Given the description of an element on the screen output the (x, y) to click on. 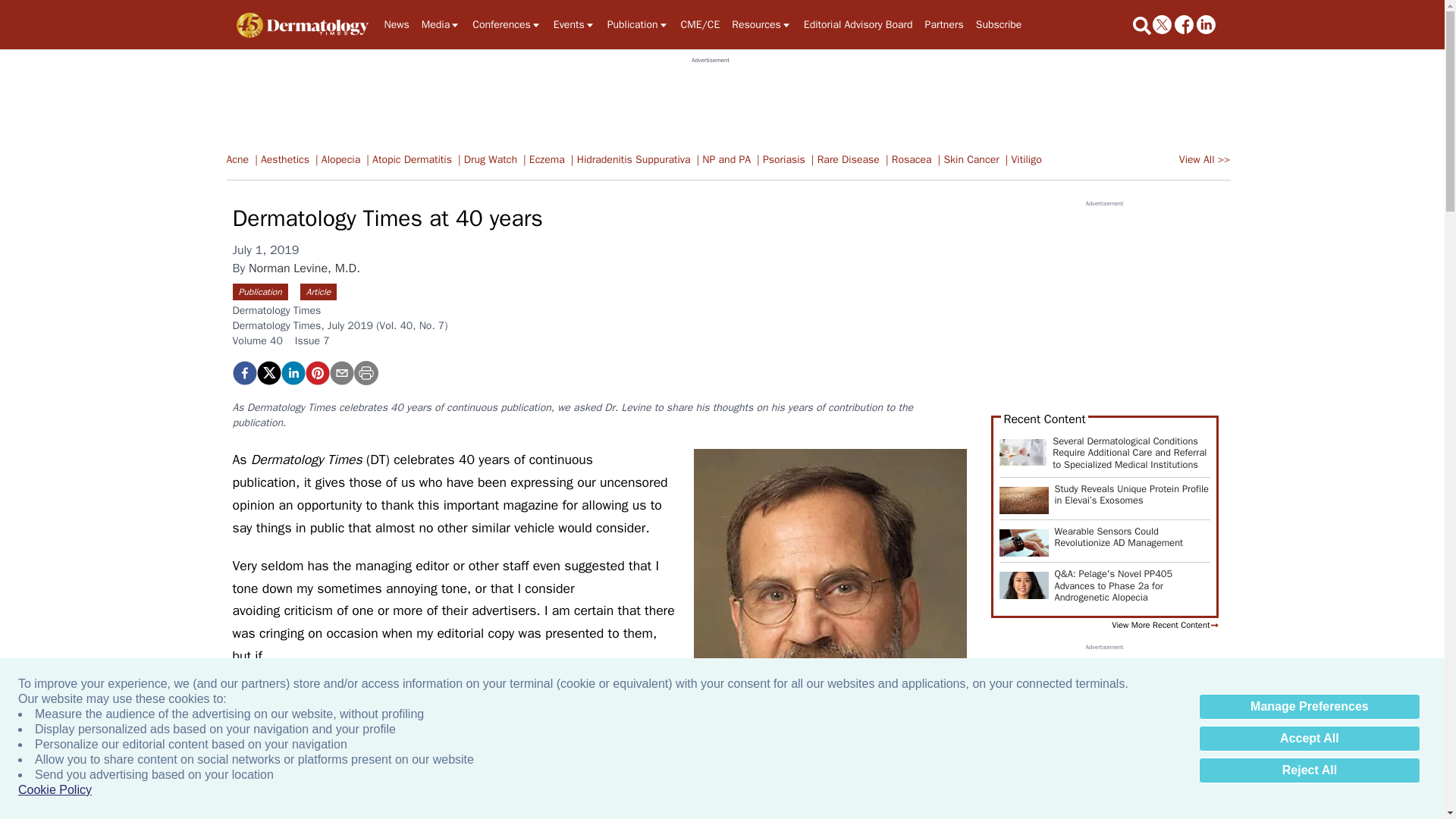
3rd party ad content (709, 98)
Dermatology Times at 40 years (316, 372)
Cookie Policy (54, 789)
Dermatology Times at 40 years (243, 372)
News (396, 23)
Editorial Advisory Board (857, 23)
Reject All (1309, 769)
Accept All (1309, 738)
Manage Preferences (1309, 706)
